Given the description of an element on the screen output the (x, y) to click on. 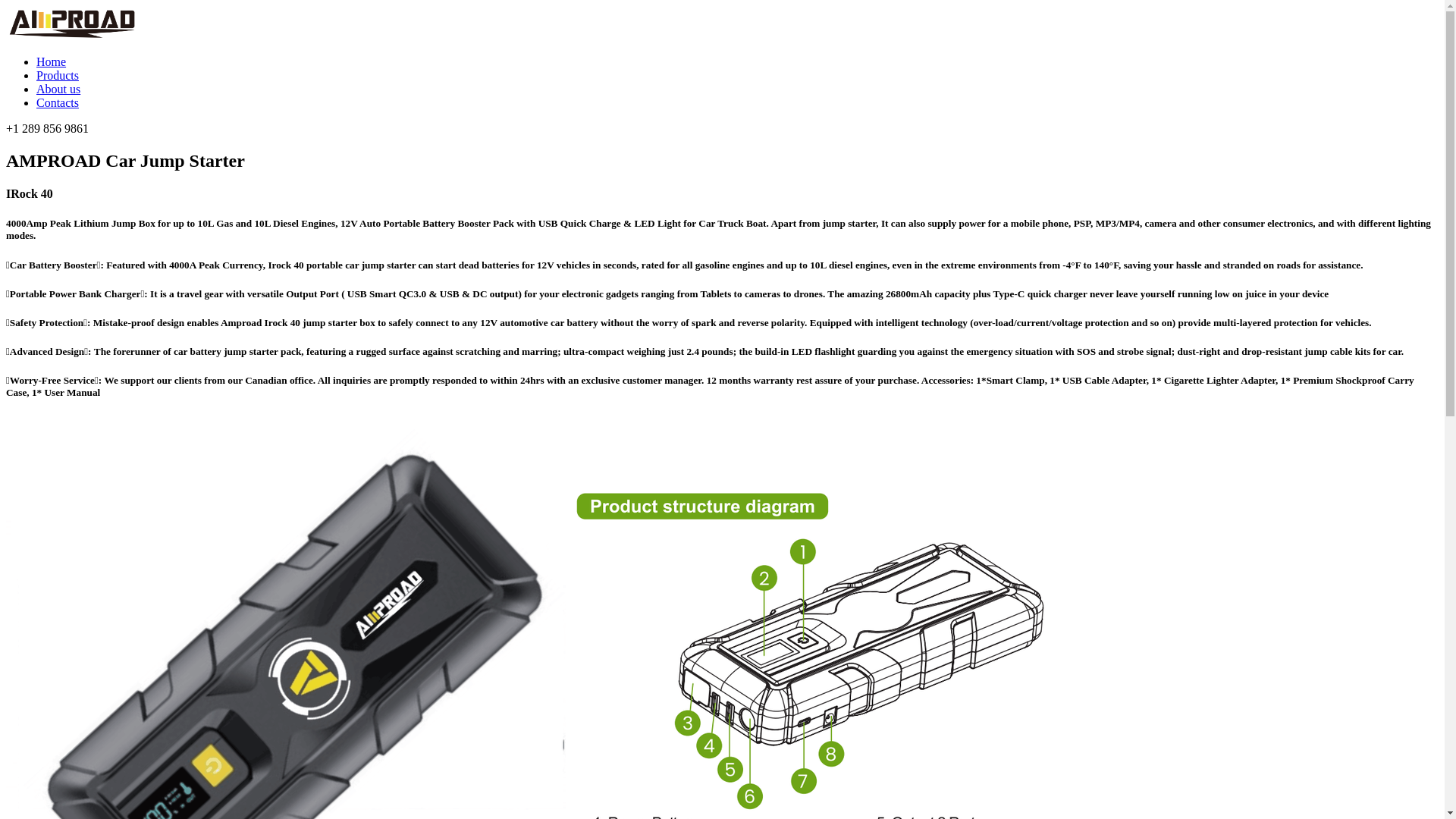
Products Element type: text (57, 75)
Contacts Element type: text (57, 102)
About us Element type: text (58, 88)
Home Element type: text (50, 61)
